Given the description of an element on the screen output the (x, y) to click on. 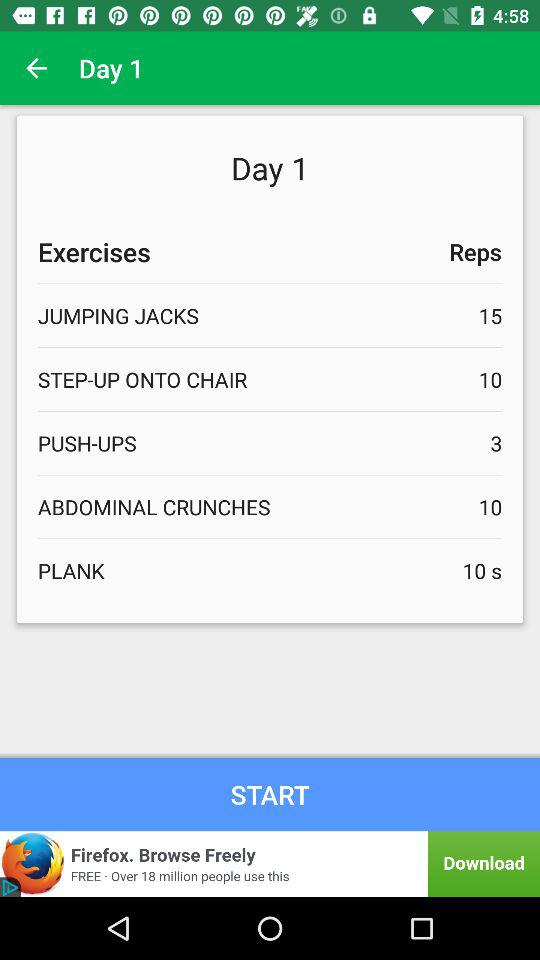
start workout (270, 794)
